Given the description of an element on the screen output the (x, y) to click on. 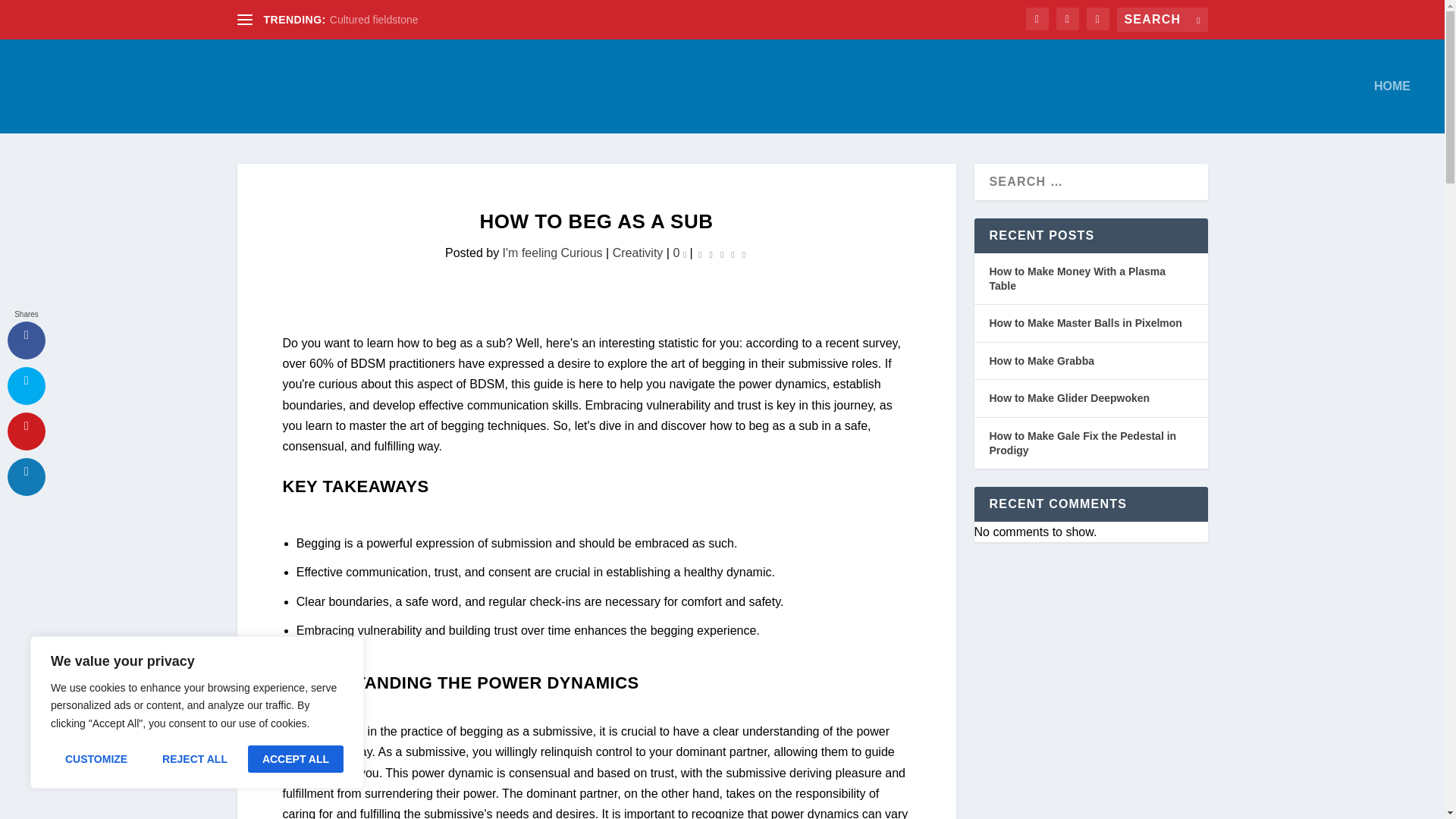
comment count (683, 254)
Posts by I'm feeling Curious (552, 252)
I'm feeling Curious (552, 252)
Search for: (1161, 19)
HOME (1392, 106)
Cultured fieldstone (374, 19)
CUSTOMIZE (95, 759)
Rating: 0.00 (721, 253)
ACCEPT ALL (295, 759)
REJECT ALL (194, 759)
Creativity (637, 252)
0 (678, 252)
